Given the description of an element on the screen output the (x, y) to click on. 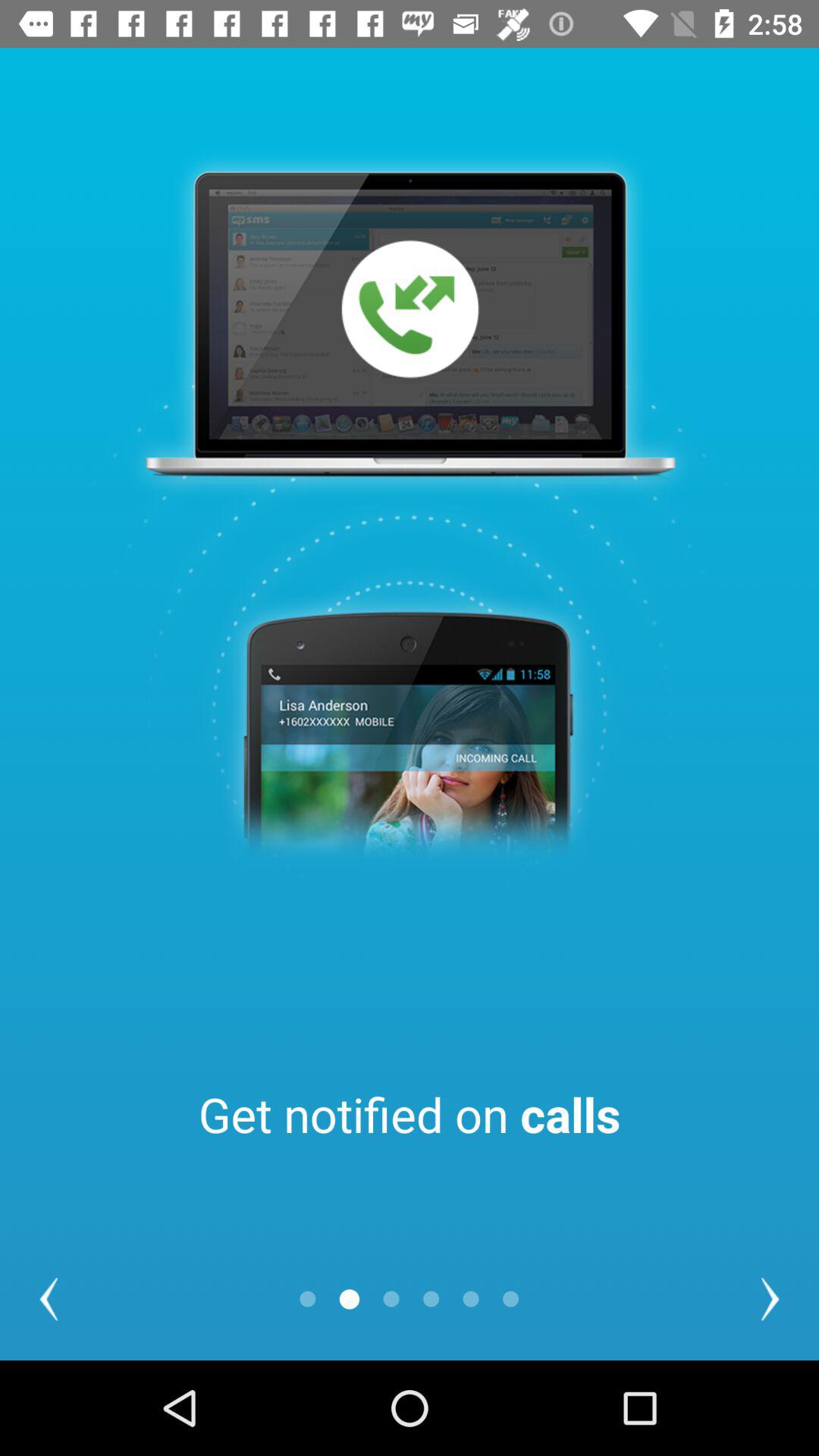
choose the item at the bottom left corner (49, 1299)
